Given the description of an element on the screen output the (x, y) to click on. 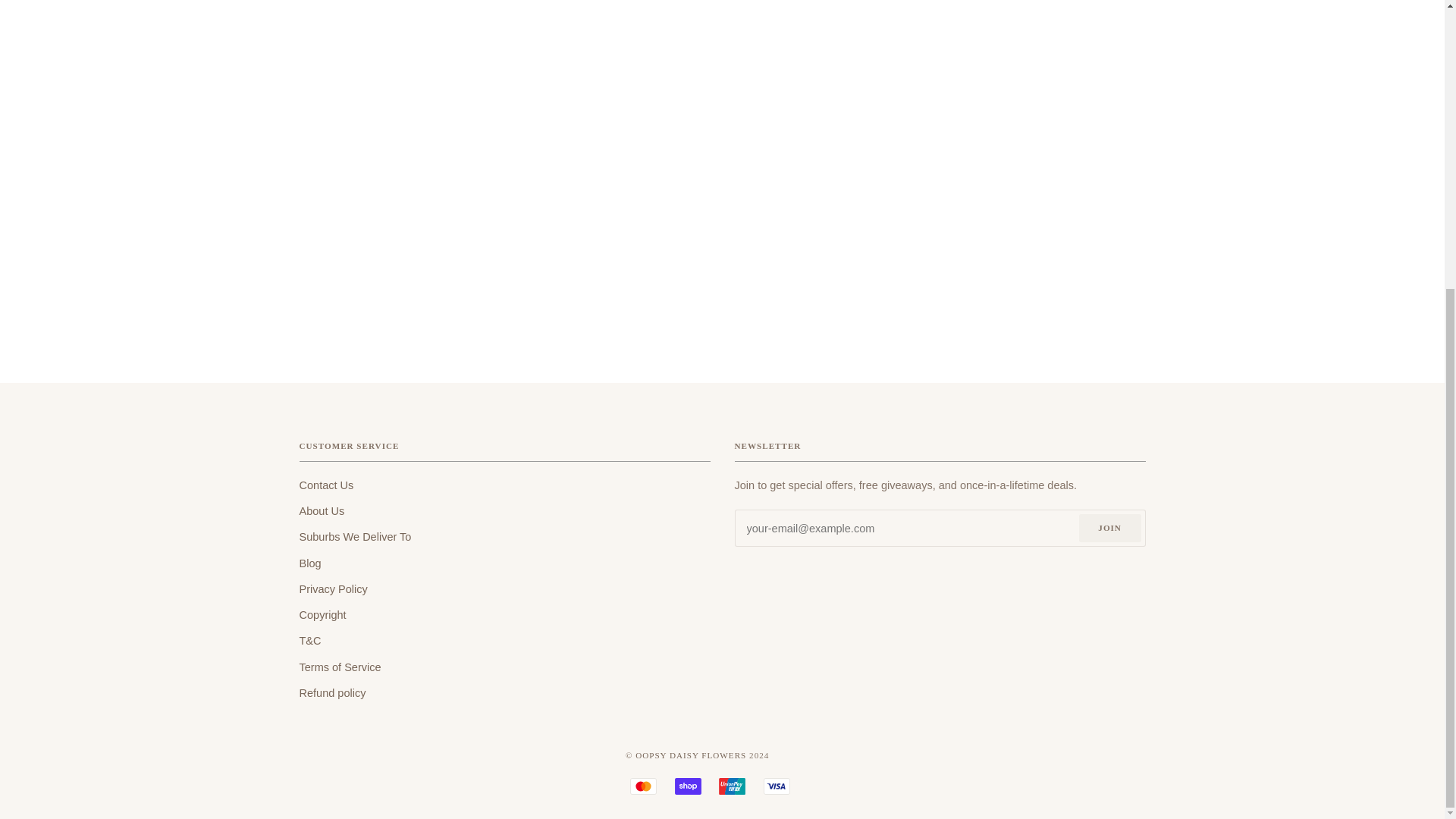
UNION PAY (732, 786)
VISA (776, 786)
SHOP PAY (688, 786)
MASTERCARD (643, 786)
